Given the description of an element on the screen output the (x, y) to click on. 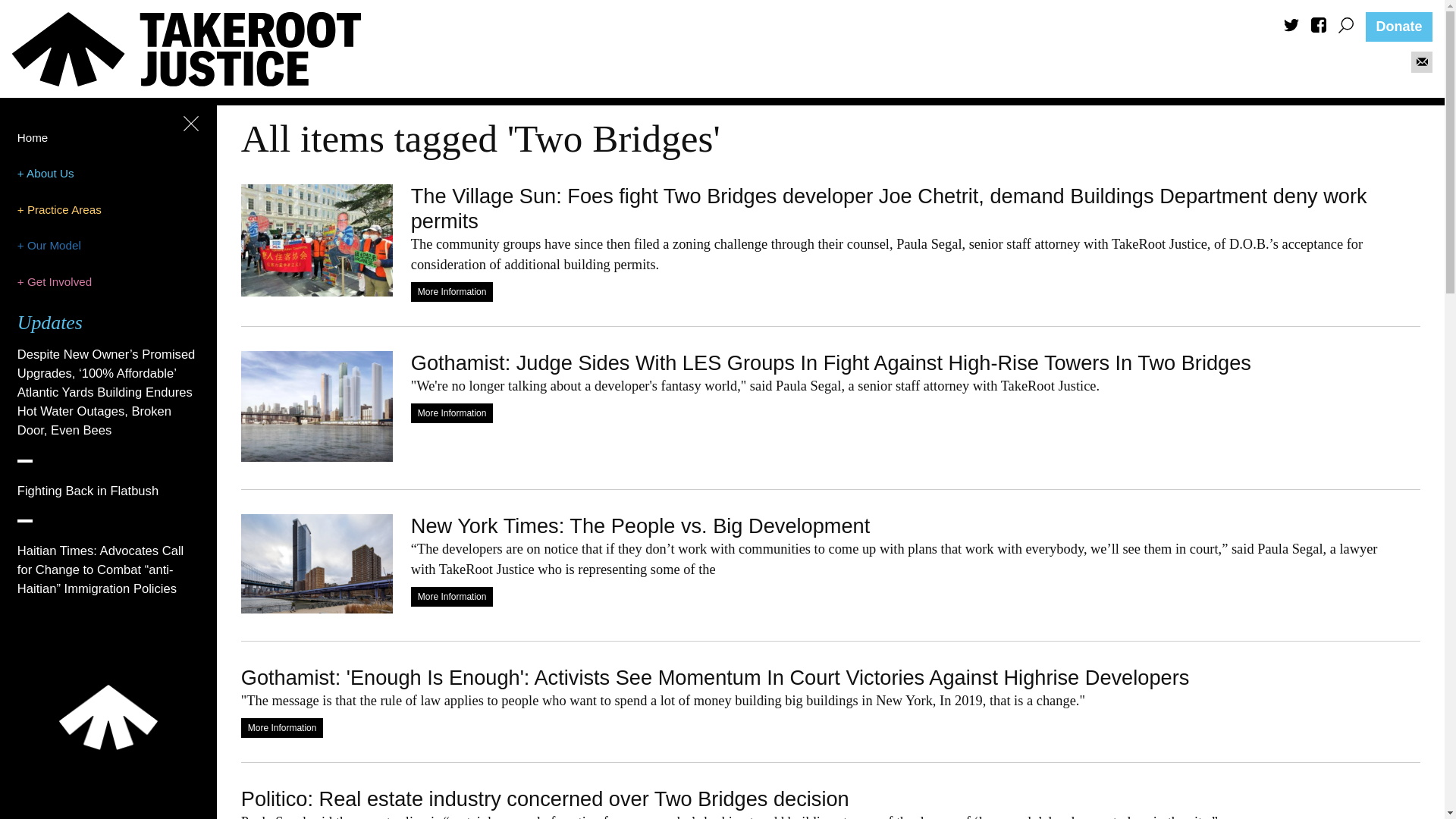
See TakeRoot Justice on Twitter (1291, 27)
Email Newsletter (1421, 63)
See TakeRoot Justice on Facebook (1318, 29)
Email Newsletter (1422, 61)
Home (32, 137)
